Given the description of an element on the screen output the (x, y) to click on. 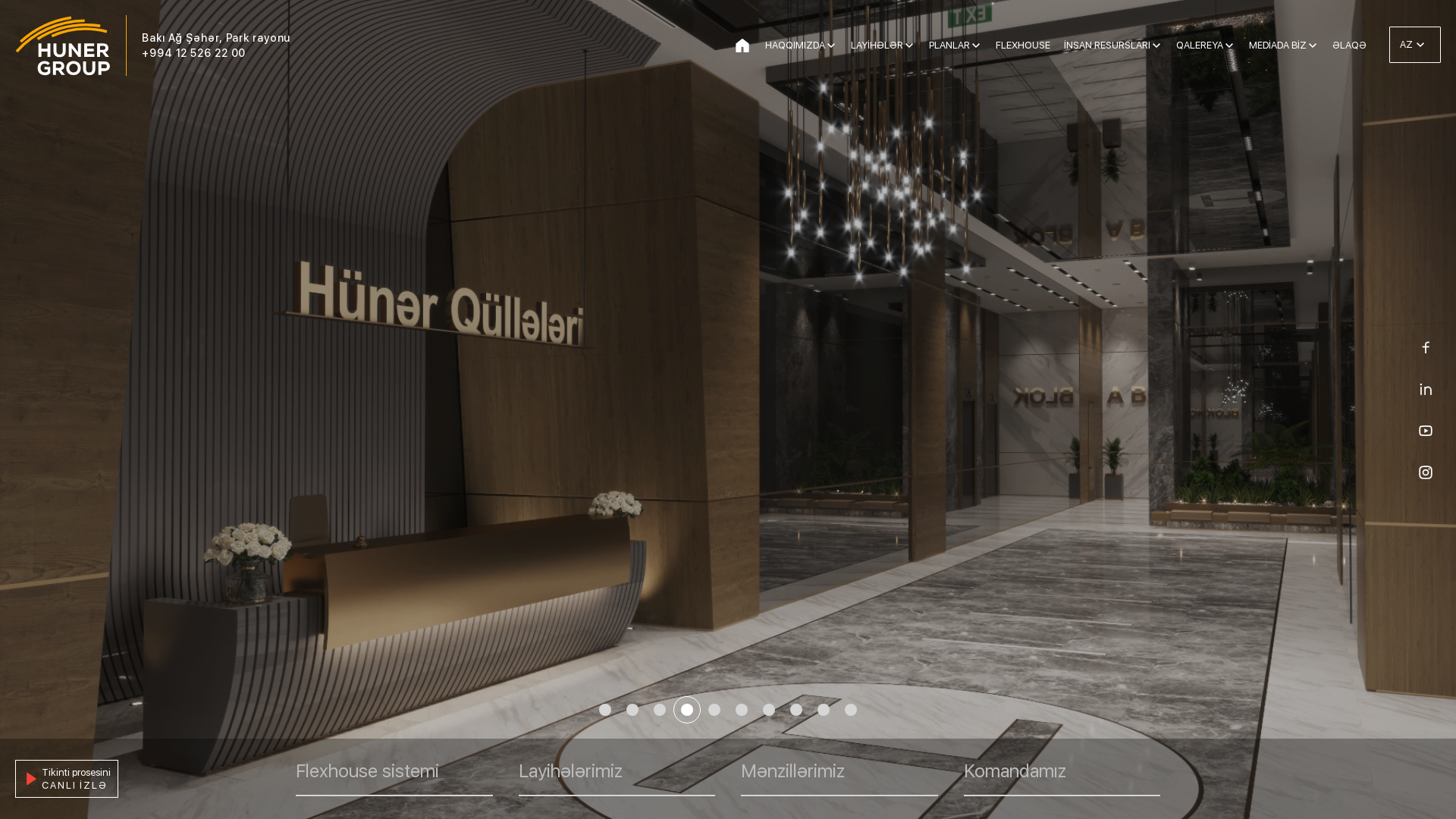
6 Element type: text (741, 709)
HAQQIMIZDA Element type: text (801, 45)
Flexhouse sistemi Element type: text (393, 778)
3 Element type: text (659, 709)
PLANLAR Element type: text (955, 45)
9 Element type: text (823, 709)
10 Element type: text (850, 709)
4 Element type: text (686, 709)
5 Element type: text (714, 709)
Ana Sahife Element type: text (742, 45)
2 Element type: text (632, 709)
1 Element type: text (604, 709)
7 Element type: text (768, 709)
FLEXHOUSE Element type: text (1022, 45)
QALEREYA Element type: text (1205, 45)
8 Element type: text (795, 709)
